Given the description of an element on the screen output the (x, y) to click on. 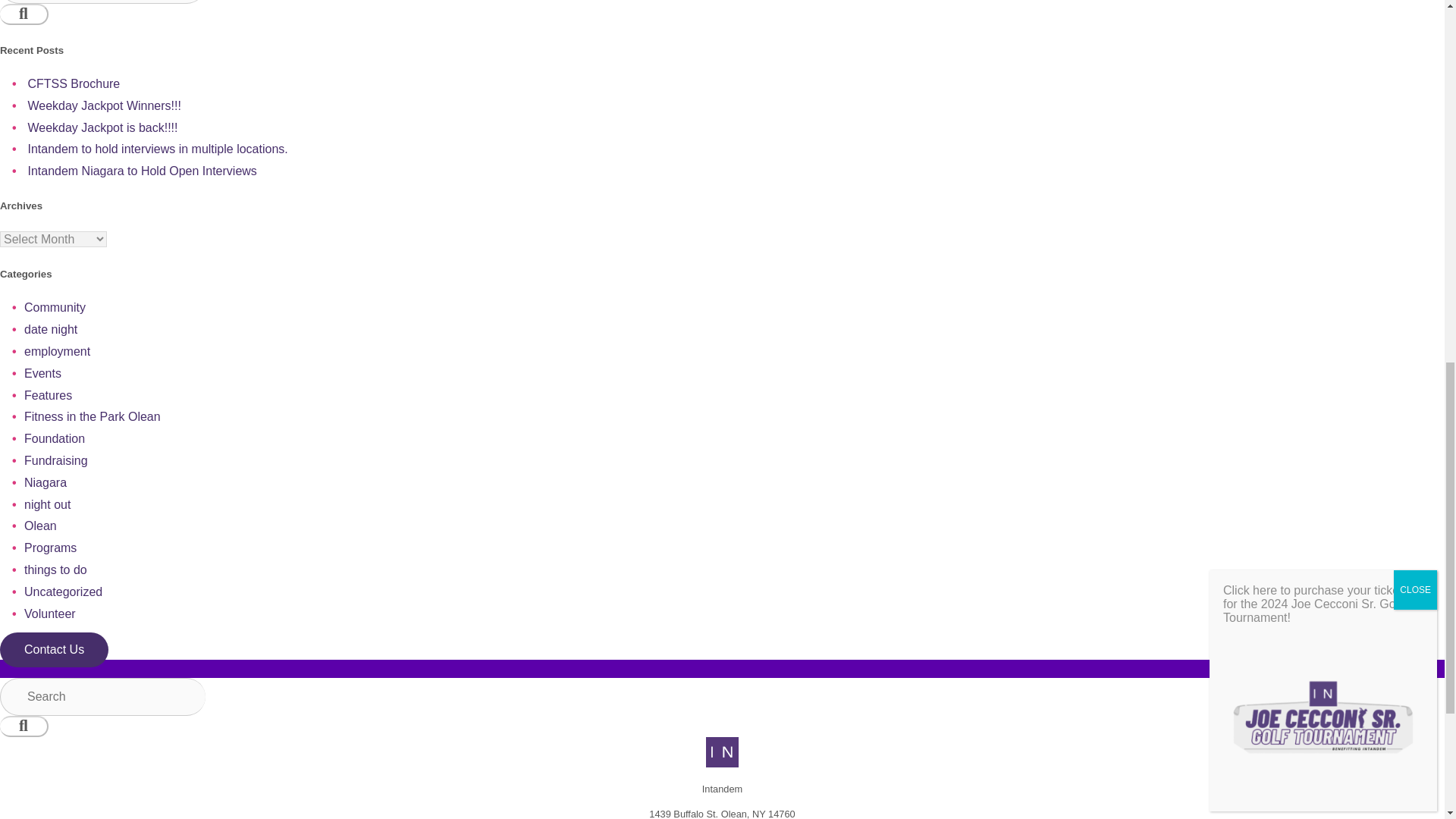
date night (50, 328)
Intandem Niagara to Hold Open Interviews (141, 170)
Events (42, 373)
Weekday Jackpot is back!!!! (102, 127)
Weekday Jackpot Winners!!! (103, 105)
CFTSS Brochure (73, 83)
Community (54, 307)
employment (57, 350)
Intandem to hold interviews in multiple locations. (156, 148)
